Given the description of an element on the screen output the (x, y) to click on. 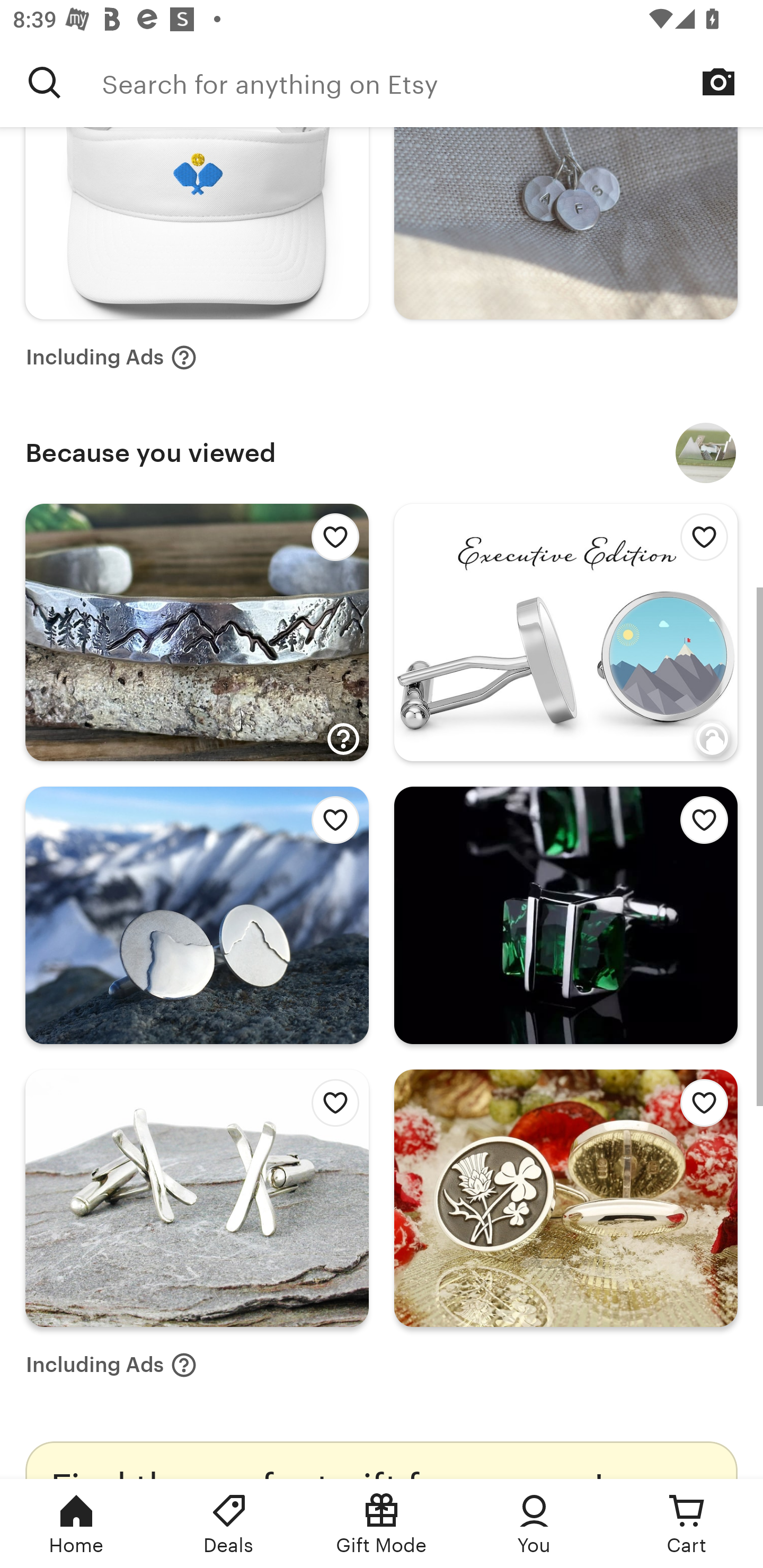
Search for anything on Etsy (44, 82)
Search by image (718, 81)
Search for anything on Etsy (432, 82)
Including Ads (111, 357)
Including Ads (111, 1364)
Deals (228, 1523)
Gift Mode (381, 1523)
You (533, 1523)
Cart (686, 1523)
